Given the description of an element on the screen output the (x, y) to click on. 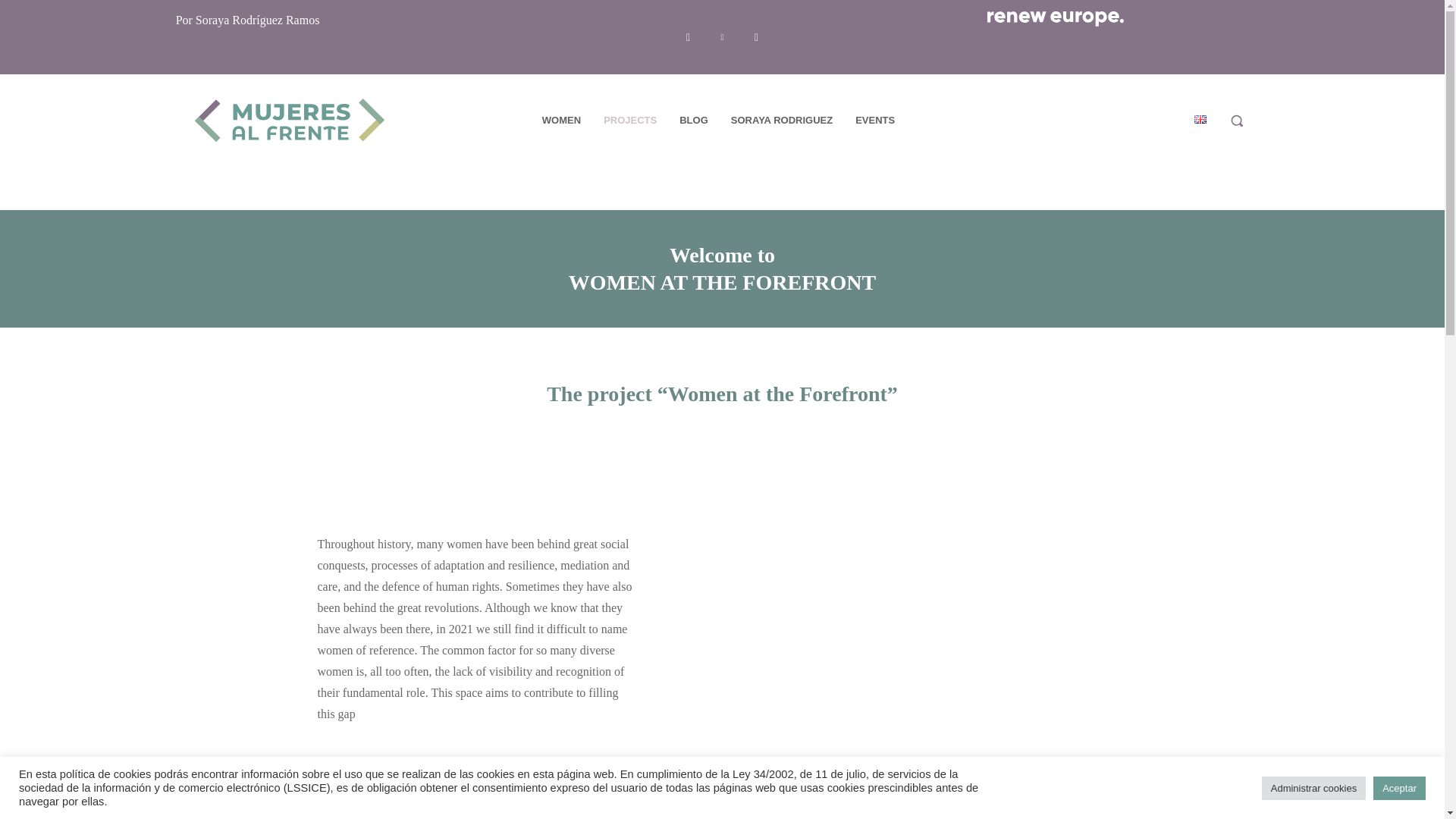
WOMEN (561, 119)
Twitter (722, 37)
Instagram (756, 37)
Facebook (688, 37)
